Given the description of an element on the screen output the (x, y) to click on. 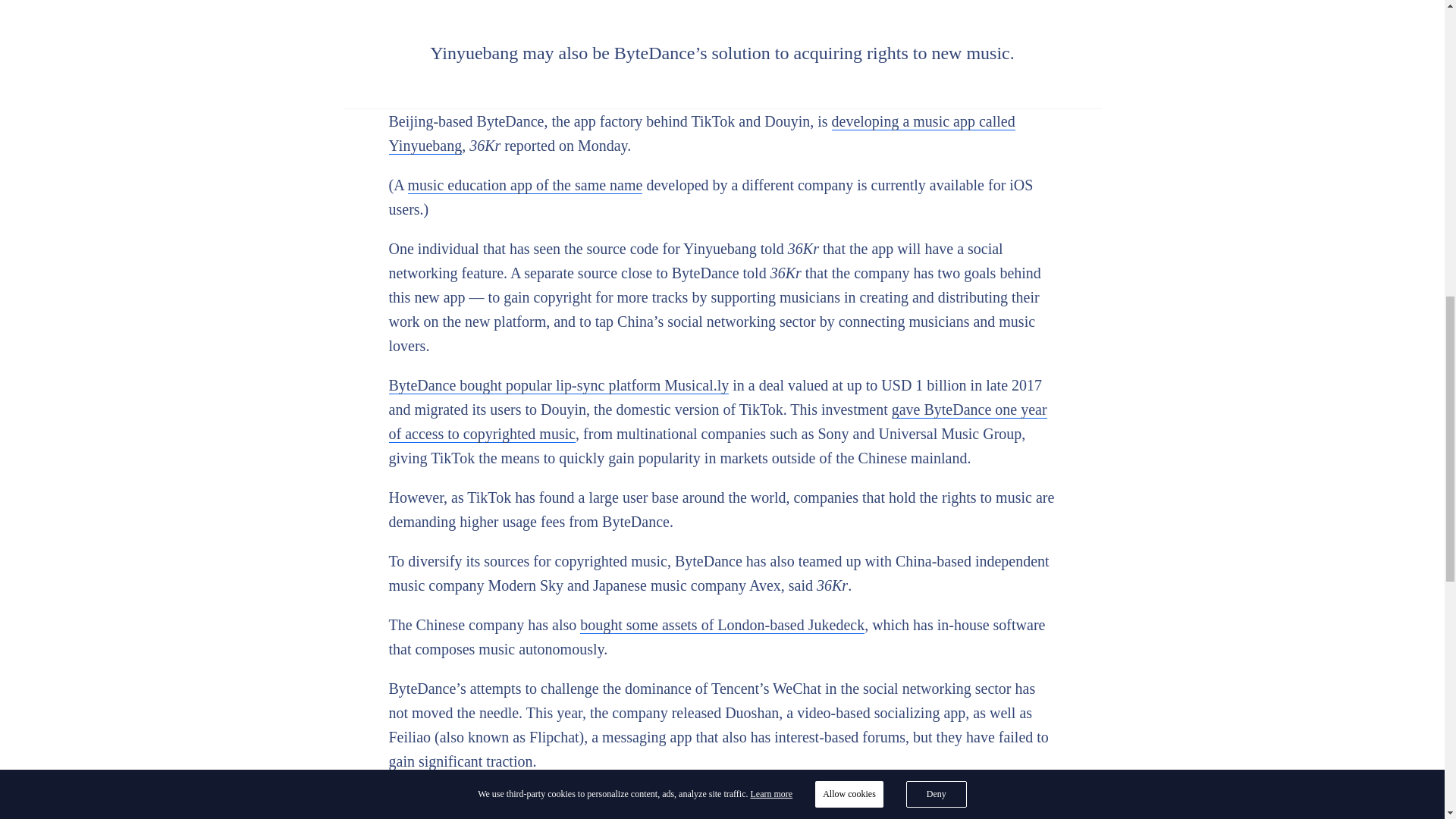
developing a music app called Yinyuebang (701, 133)
music education app of the same name (525, 185)
bought some assets of London-based Jukedeck (721, 624)
gave ByteDance one year of access to copyrighted music (717, 422)
ByteDance bought popular lip-sync platform Musical.ly (558, 384)
